Given the description of an element on the screen output the (x, y) to click on. 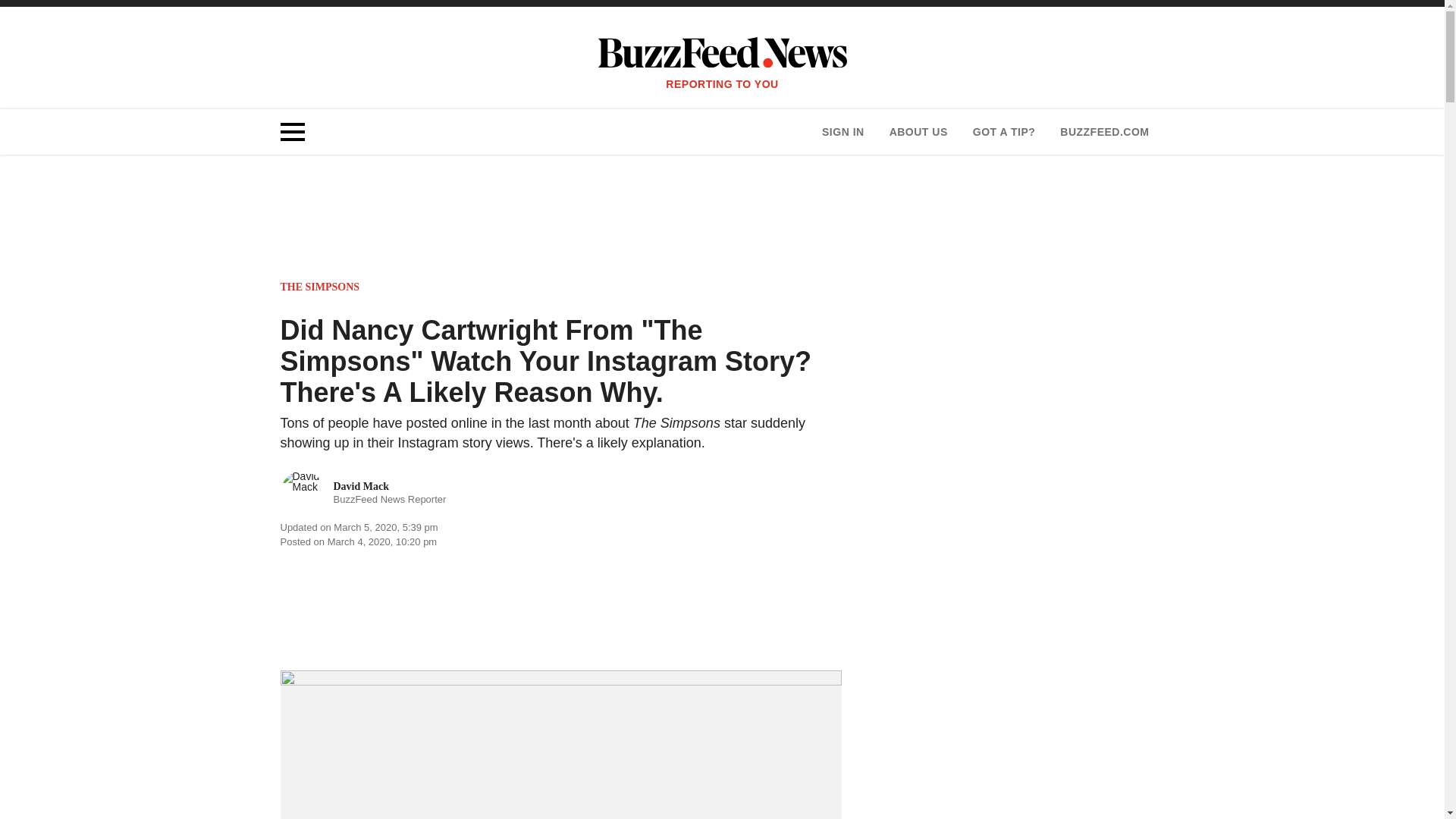
BUZZFEED.COM (363, 492)
THE SIMPSONS (1103, 131)
GOT A TIP? (320, 286)
SIGN IN (1003, 131)
ABOUT US (842, 131)
